Given the description of an element on the screen output the (x, y) to click on. 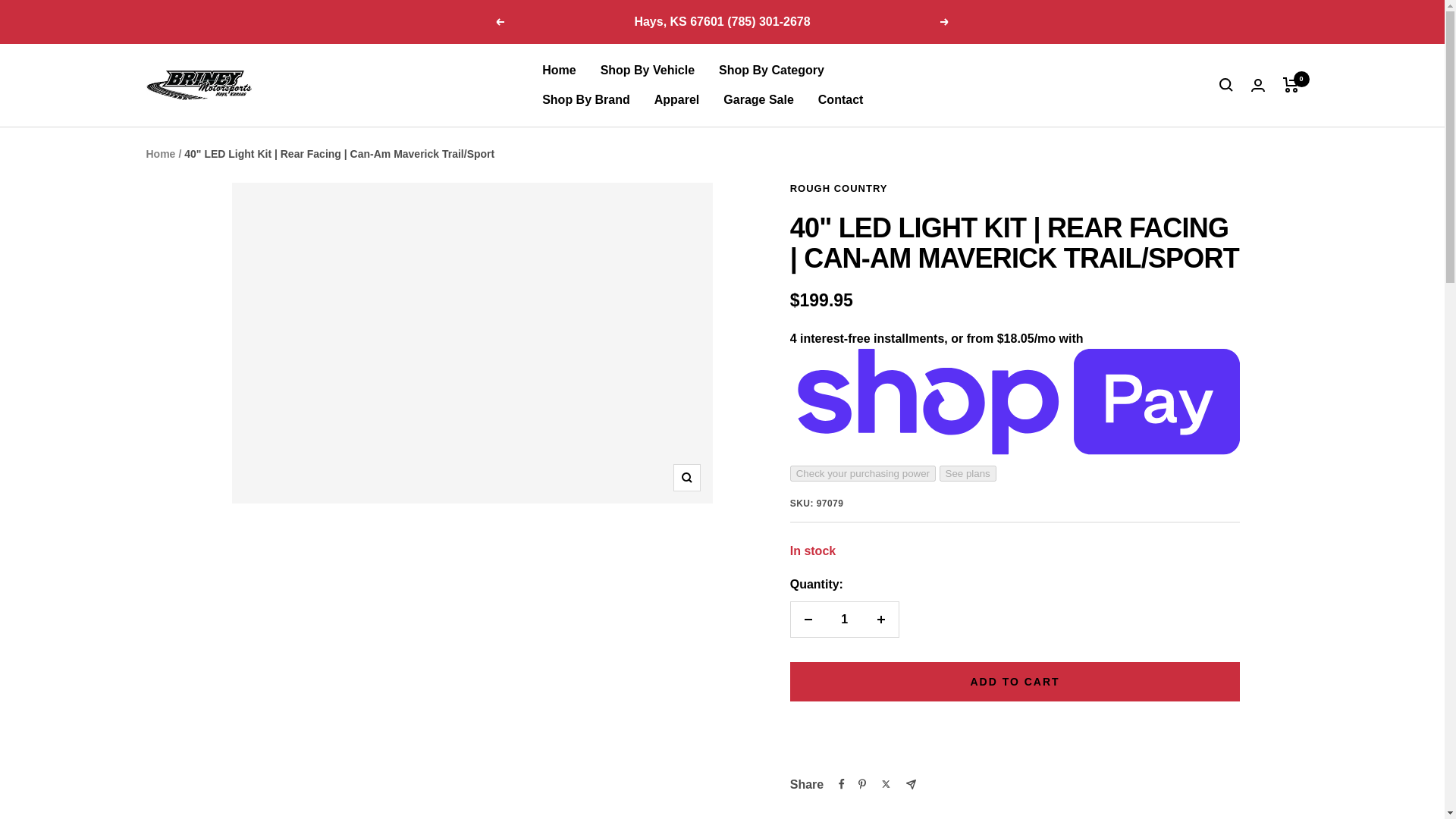
Shop By Brand (585, 99)
Home (159, 153)
1 (844, 619)
Contact (840, 99)
Shop By Vehicle (646, 70)
Apparel (676, 99)
Briney Motorsports (198, 84)
Previous (499, 21)
Zoom (686, 477)
Garage Sale (758, 99)
0 (1290, 84)
Home (558, 70)
Shop By Category (771, 70)
Next (944, 21)
